Given the description of an element on the screen output the (x, y) to click on. 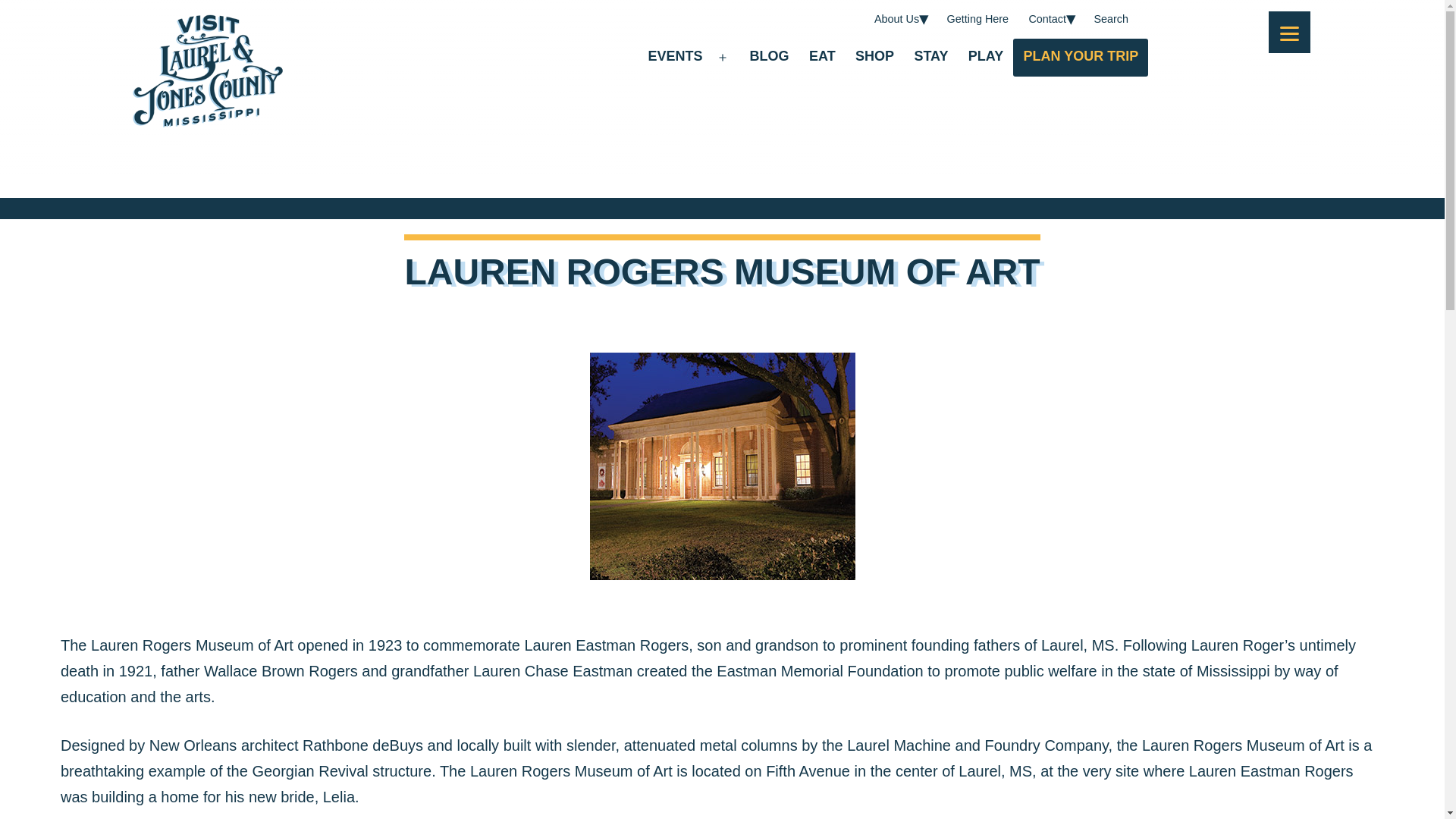
About Us (897, 19)
SHOP (874, 57)
STAY (931, 57)
Getting Here (976, 19)
PLAY (985, 57)
EVENTS (674, 57)
Search (1110, 19)
PLAN YOUR TRIP (1080, 57)
BLOG (768, 57)
Contact (1046, 19)
